Given the description of an element on the screen output the (x, y) to click on. 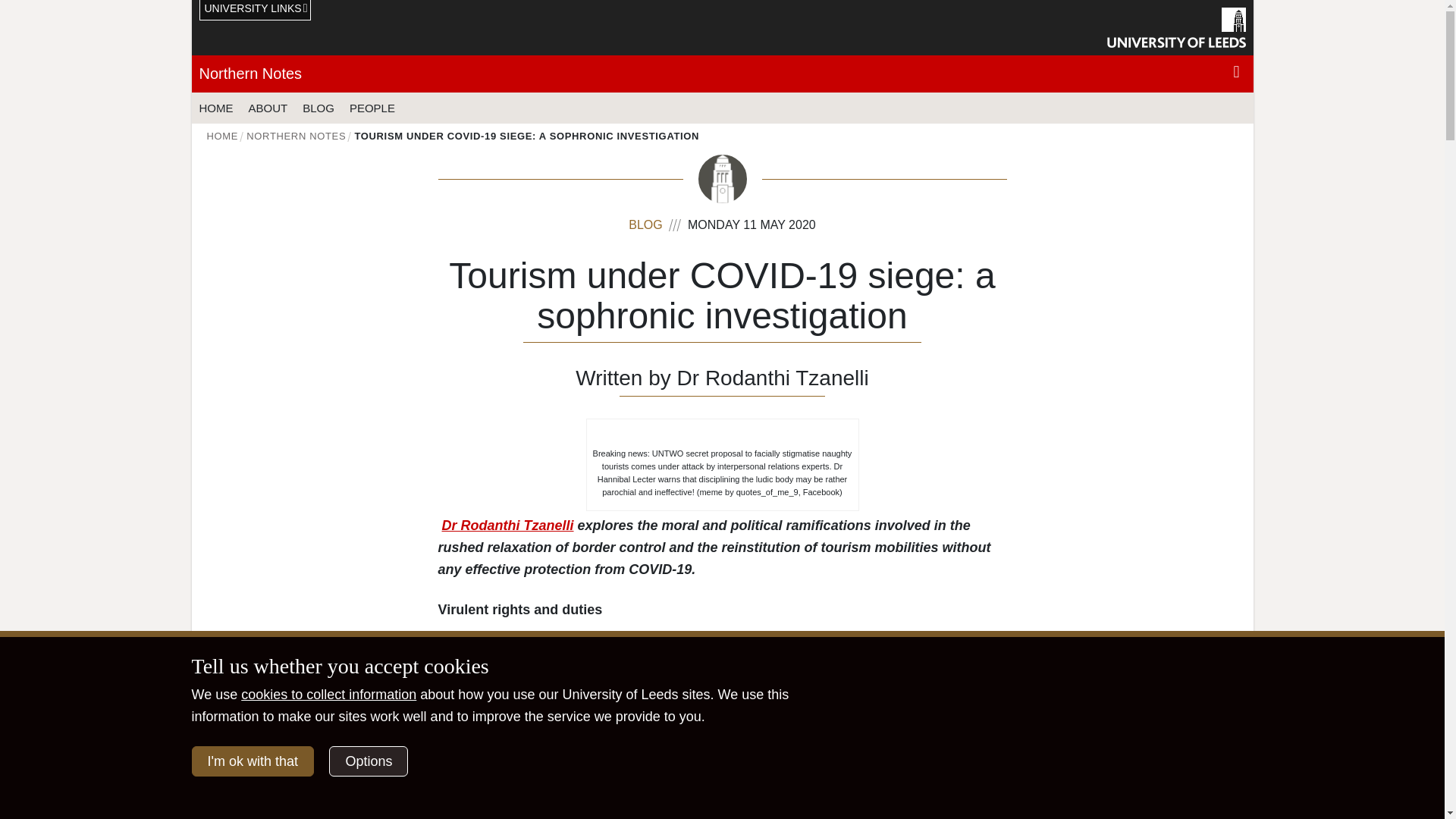
University of Leeds home page (1176, 26)
UNIVERSITY LINKS (254, 10)
Northern Notes (249, 73)
